Given the description of an element on the screen output the (x, y) to click on. 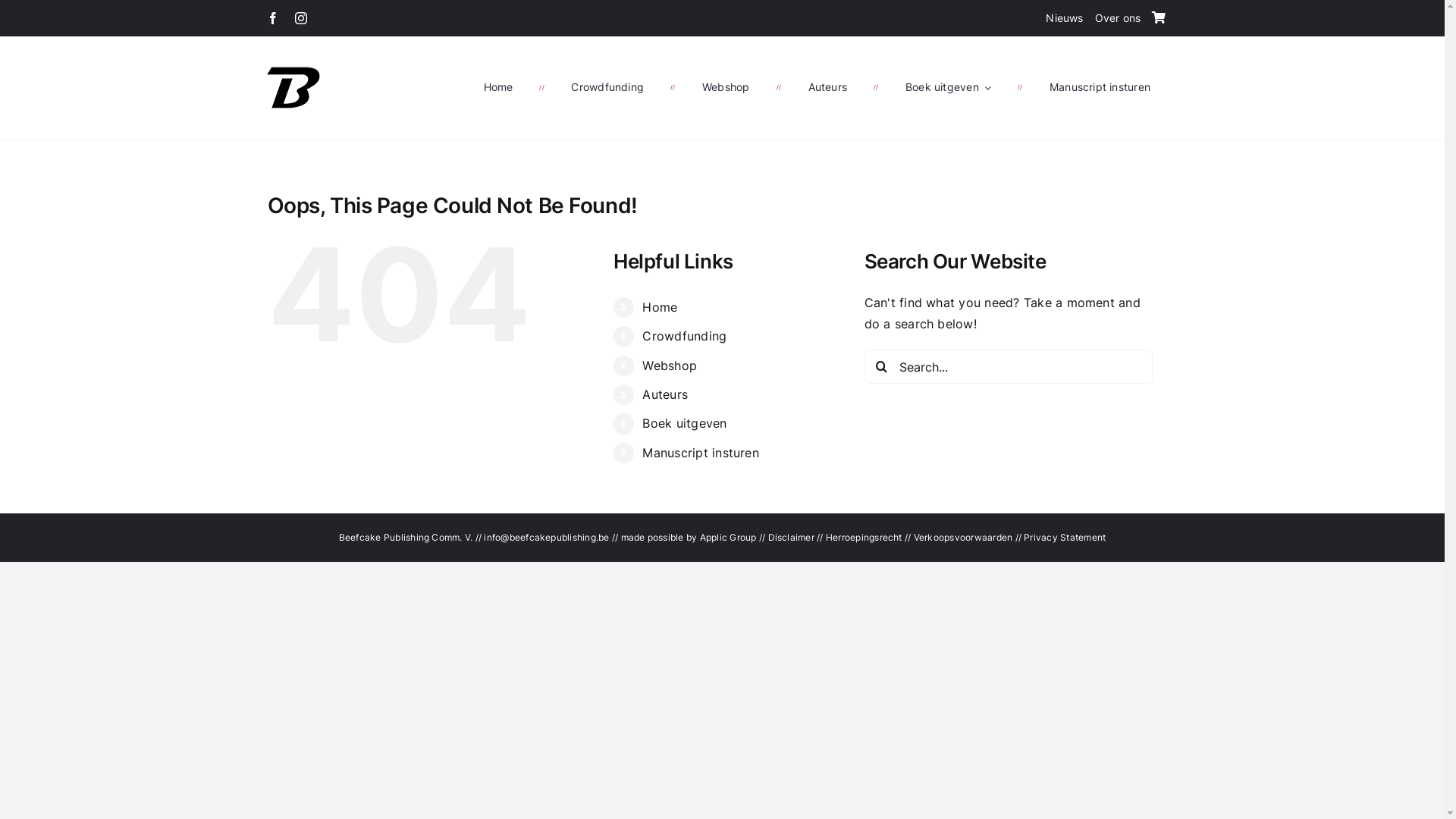
info@beefcakepublishing.be Element type: text (547, 536)
Verkoopsvoorwaarden Element type: text (963, 536)
Webshop Element type: text (725, 87)
Nieuws Element type: text (1063, 17)
Home Element type: text (498, 87)
Crowdfunding Element type: text (684, 335)
Manuscript insturen Element type: text (1099, 87)
Over ons Element type: text (1118, 17)
Webshop Element type: text (669, 365)
Boek uitgeven Element type: text (948, 87)
Privacy Statement Element type: text (1064, 536)
Disclaimer Element type: text (789, 536)
Crowdfunding Element type: text (607, 87)
Manuscript insturen Element type: text (700, 452)
Auteurs Element type: text (827, 87)
Auteurs Element type: text (664, 393)
Herroepingsrecht Element type: text (863, 536)
Applic Group Element type: text (727, 536)
Home Element type: text (659, 306)
Boek uitgeven Element type: text (684, 422)
